Given the description of an element on the screen output the (x, y) to click on. 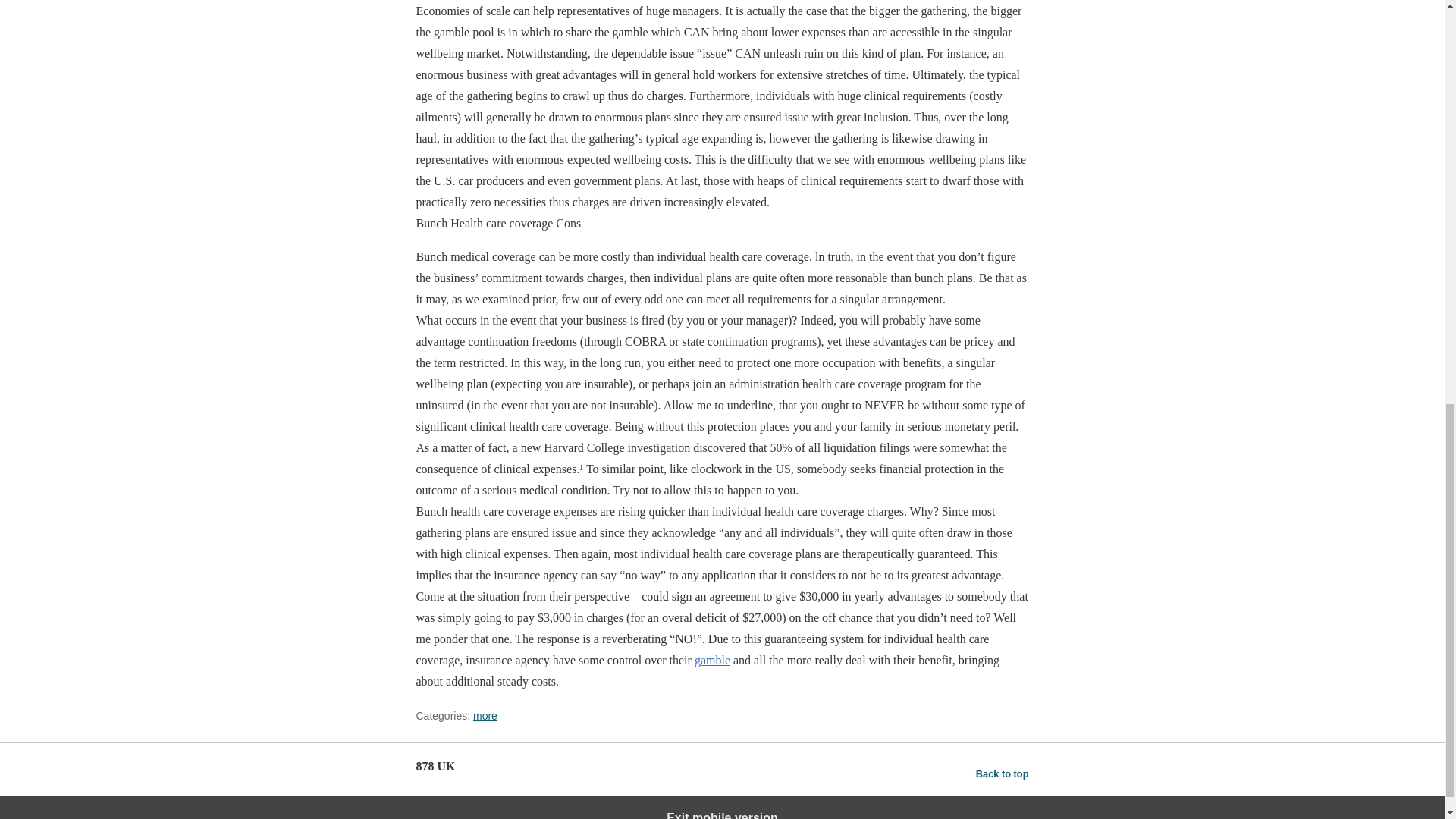
more (485, 715)
Back to top (1002, 773)
gamble (712, 659)
